Given the description of an element on the screen output the (x, y) to click on. 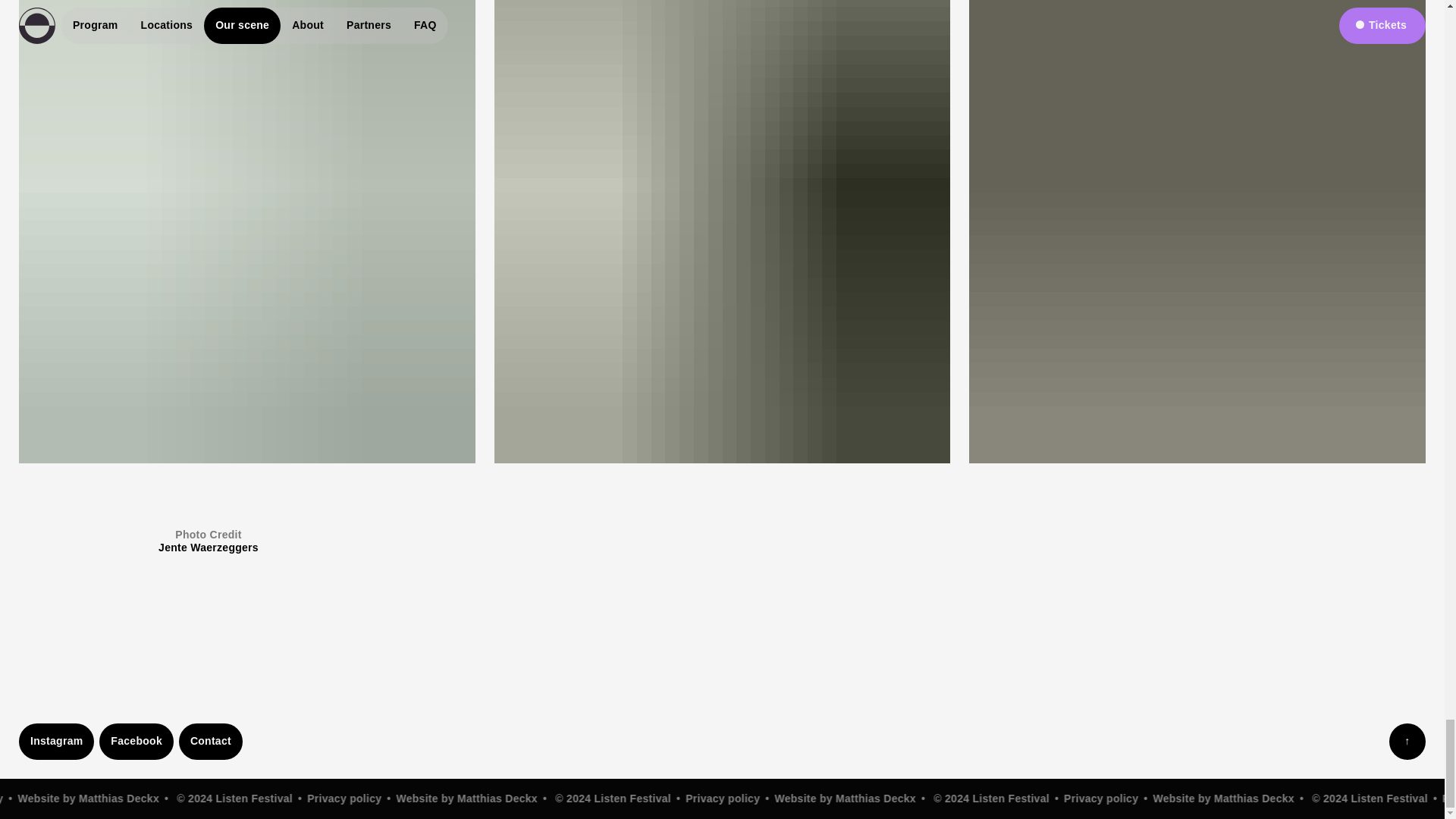
Matthias Deckx (1196, 798)
Facebook (136, 741)
Privacy policy (667, 798)
Contact (211, 741)
Instagram (56, 741)
Privacy policy (291, 798)
Matthias Deckx (444, 798)
Privacy policy (1044, 798)
Matthias Deckx (819, 798)
